Given the description of an element on the screen output the (x, y) to click on. 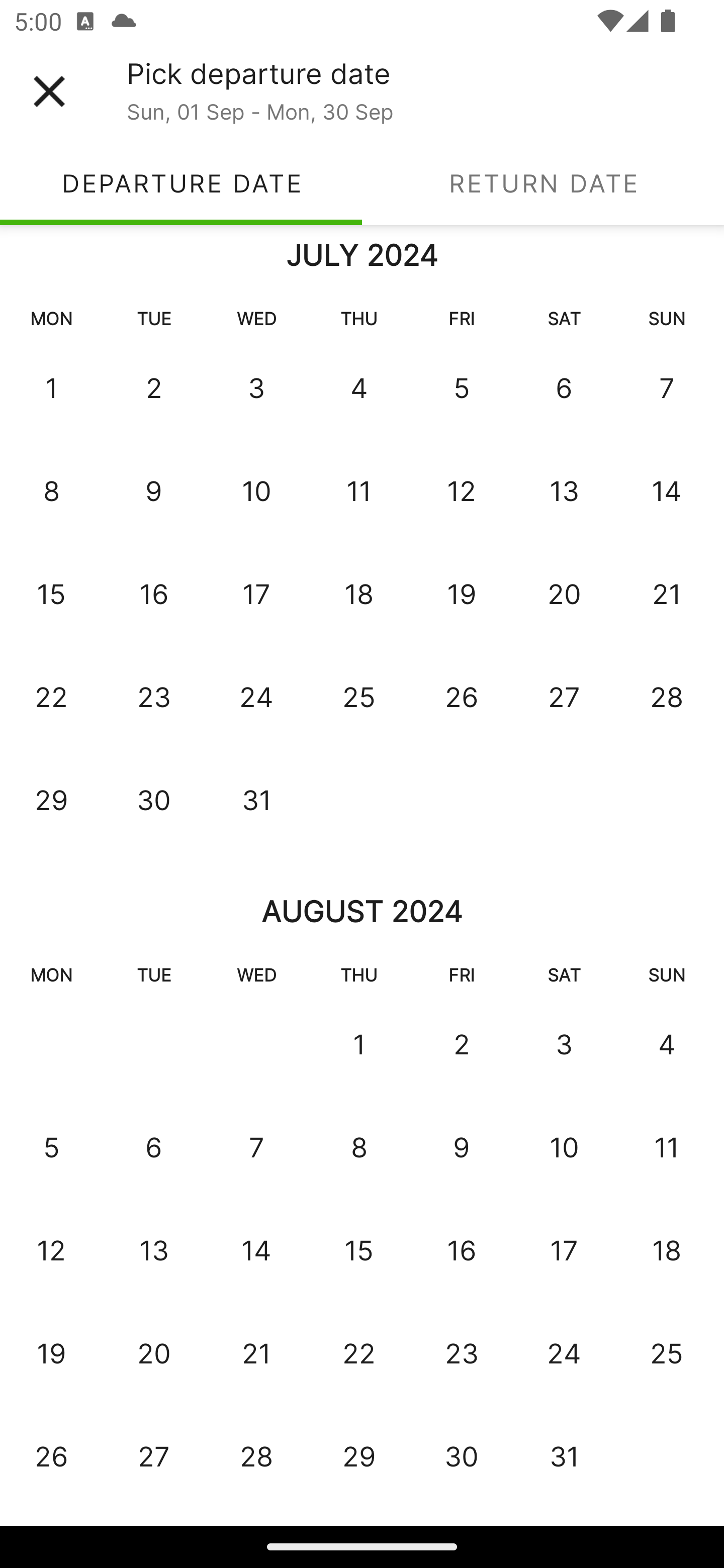
Return Date RETURN DATE (543, 183)
